Given the description of an element on the screen output the (x, y) to click on. 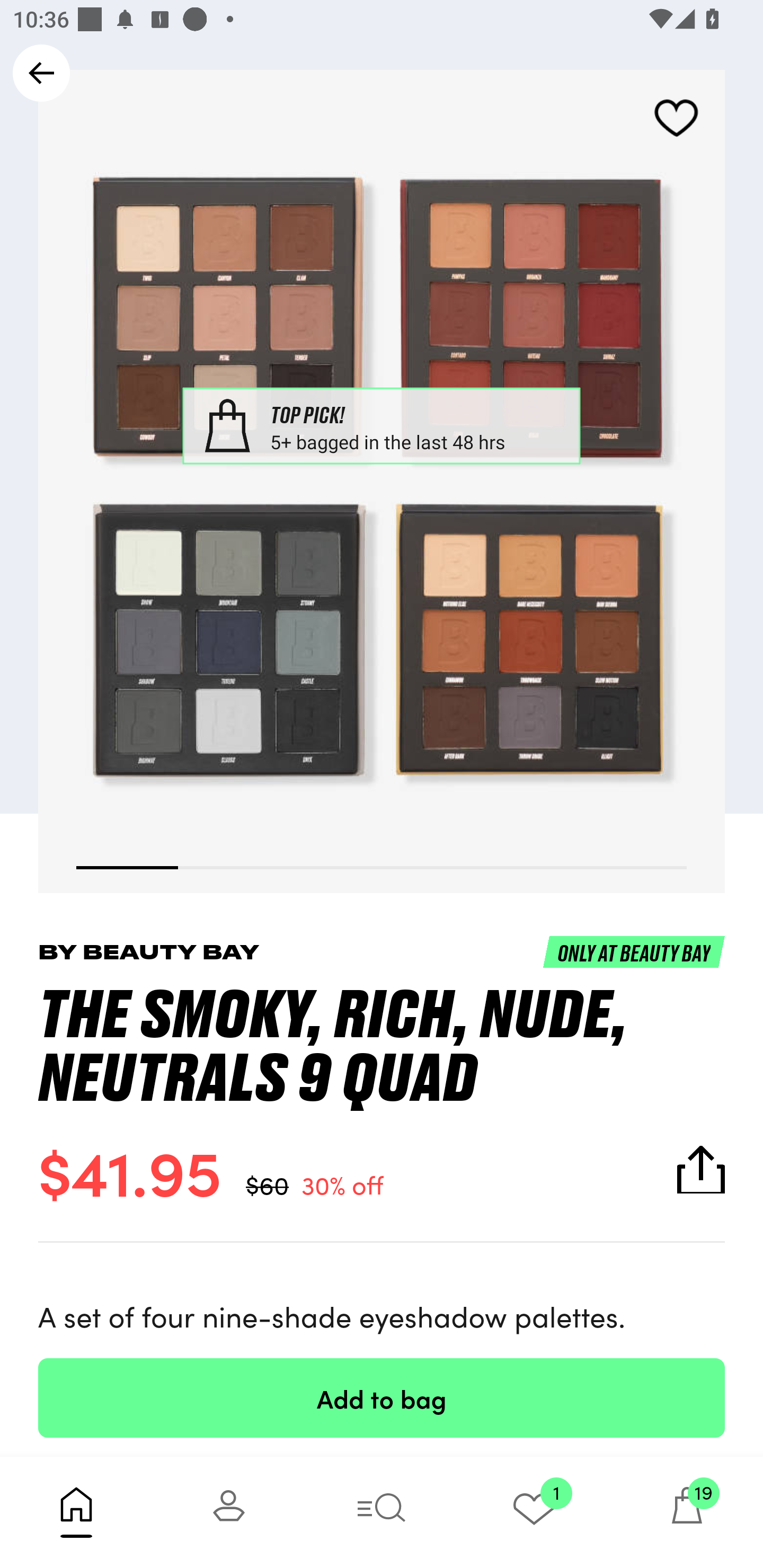
Add to bag (381, 1397)
1 (533, 1512)
19 (686, 1512)
